Given the description of an element on the screen output the (x, y) to click on. 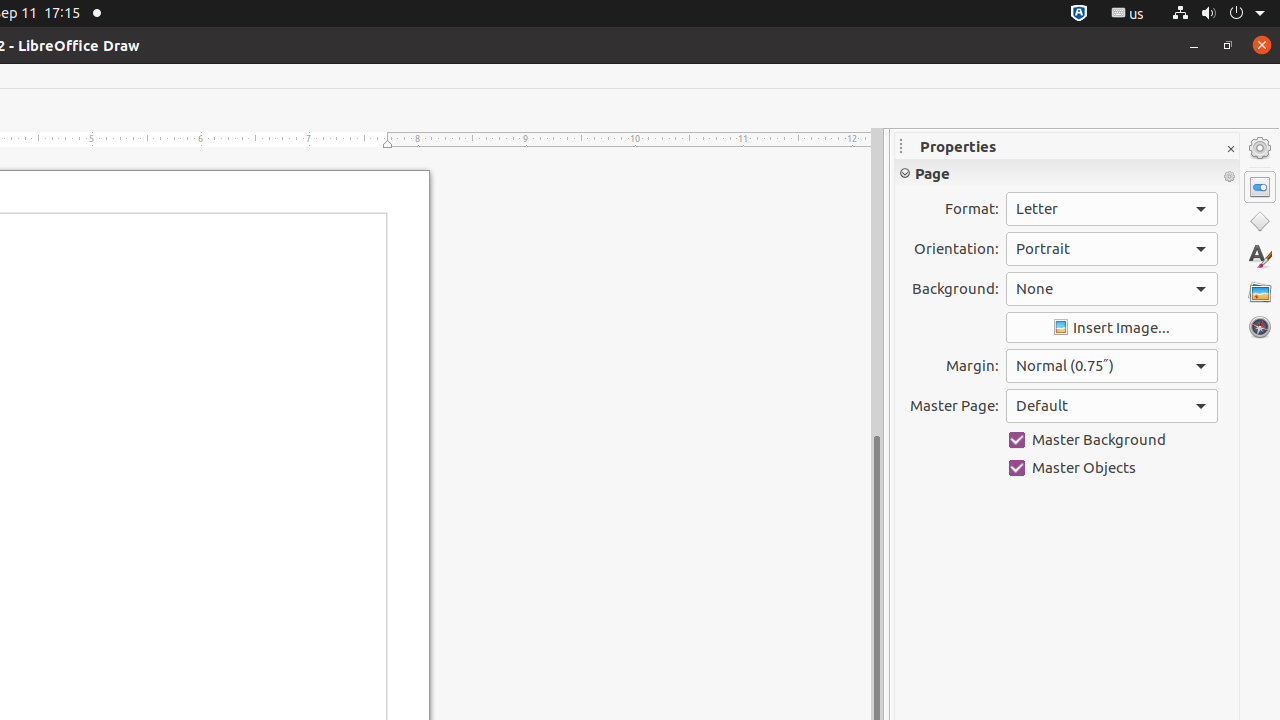
Navigator Element type: radio-button (1260, 327)
Gallery Element type: radio-button (1260, 292)
Insert Image Element type: push-button (1112, 327)
Margin: Element type: combo-box (1112, 366)
Orientation: Element type: combo-box (1112, 249)
